Given the description of an element on the screen output the (x, y) to click on. 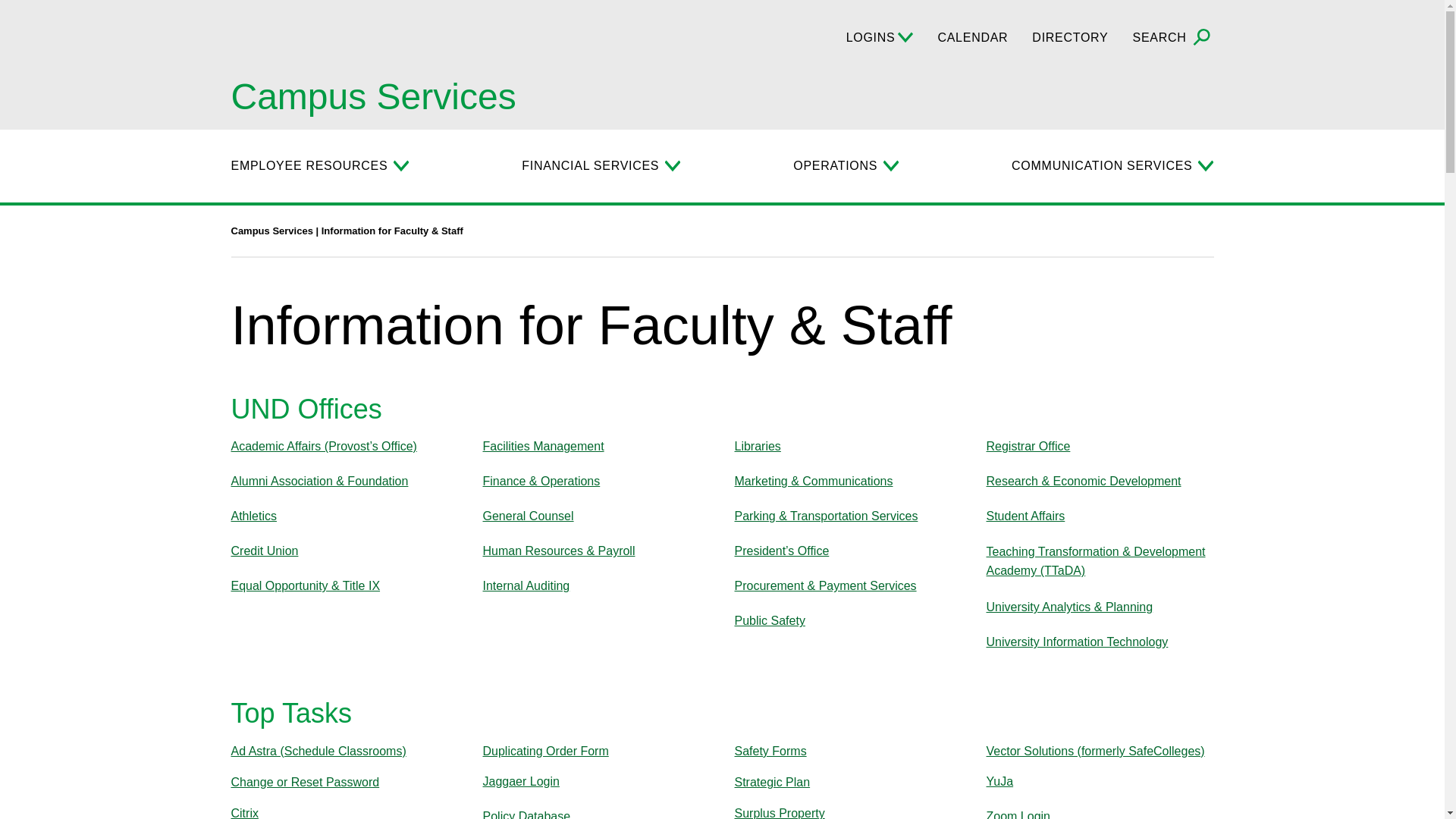
Campus Services (372, 96)
OPERATIONS (835, 165)
FINANCIAL SERVICES (590, 165)
Toggle Menu (890, 165)
LOGINS (879, 37)
EMPLOYEE RESOURCES (308, 165)
Toggle Menu (401, 165)
Toggle Menu (672, 165)
CALENDAR (972, 37)
SEARCH (1173, 37)
